Given the description of an element on the screen output the (x, y) to click on. 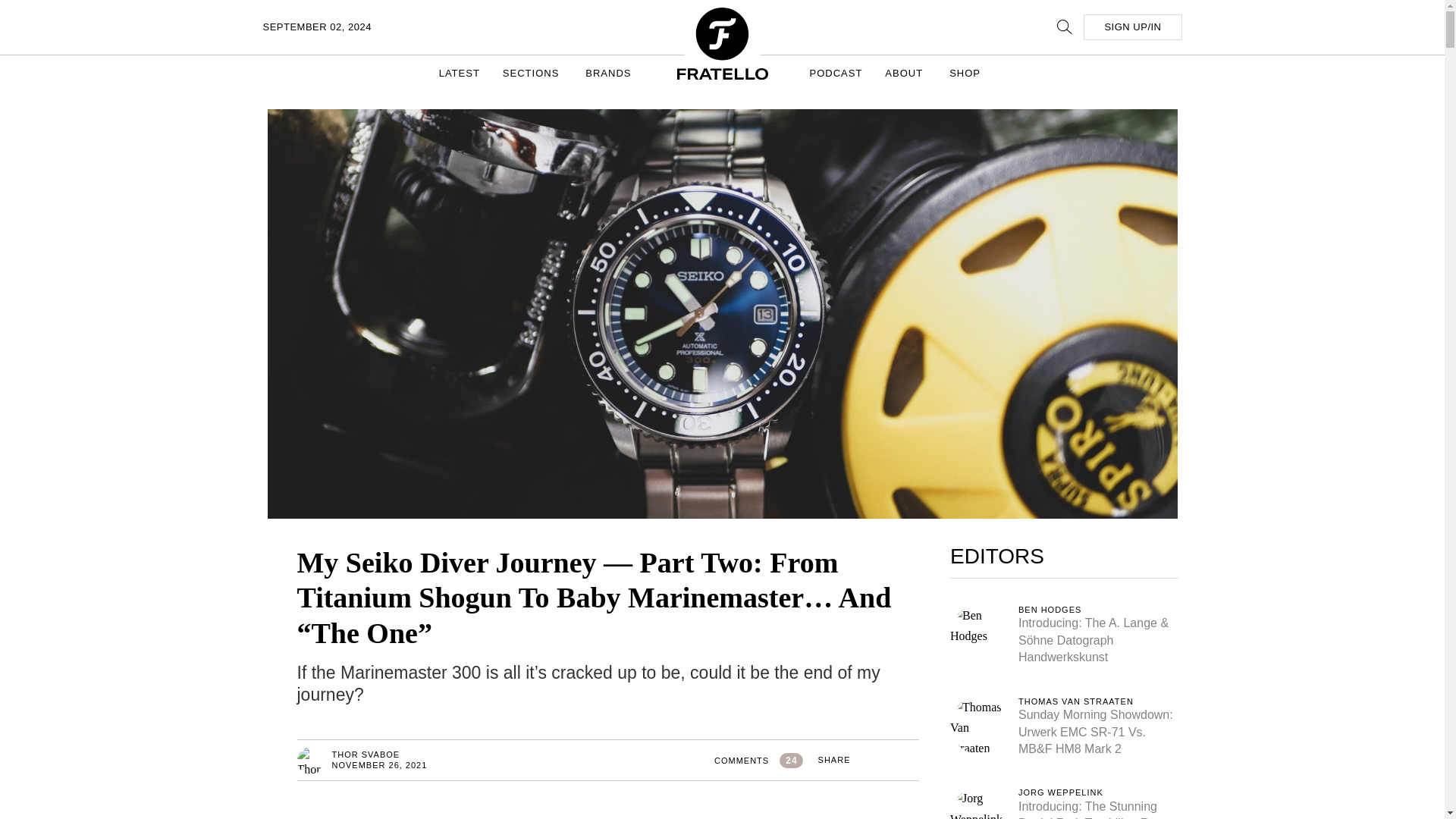
BRANDS (609, 72)
LATEST (460, 72)
SECTIONS (532, 72)
